Given the description of an element on the screen output the (x, y) to click on. 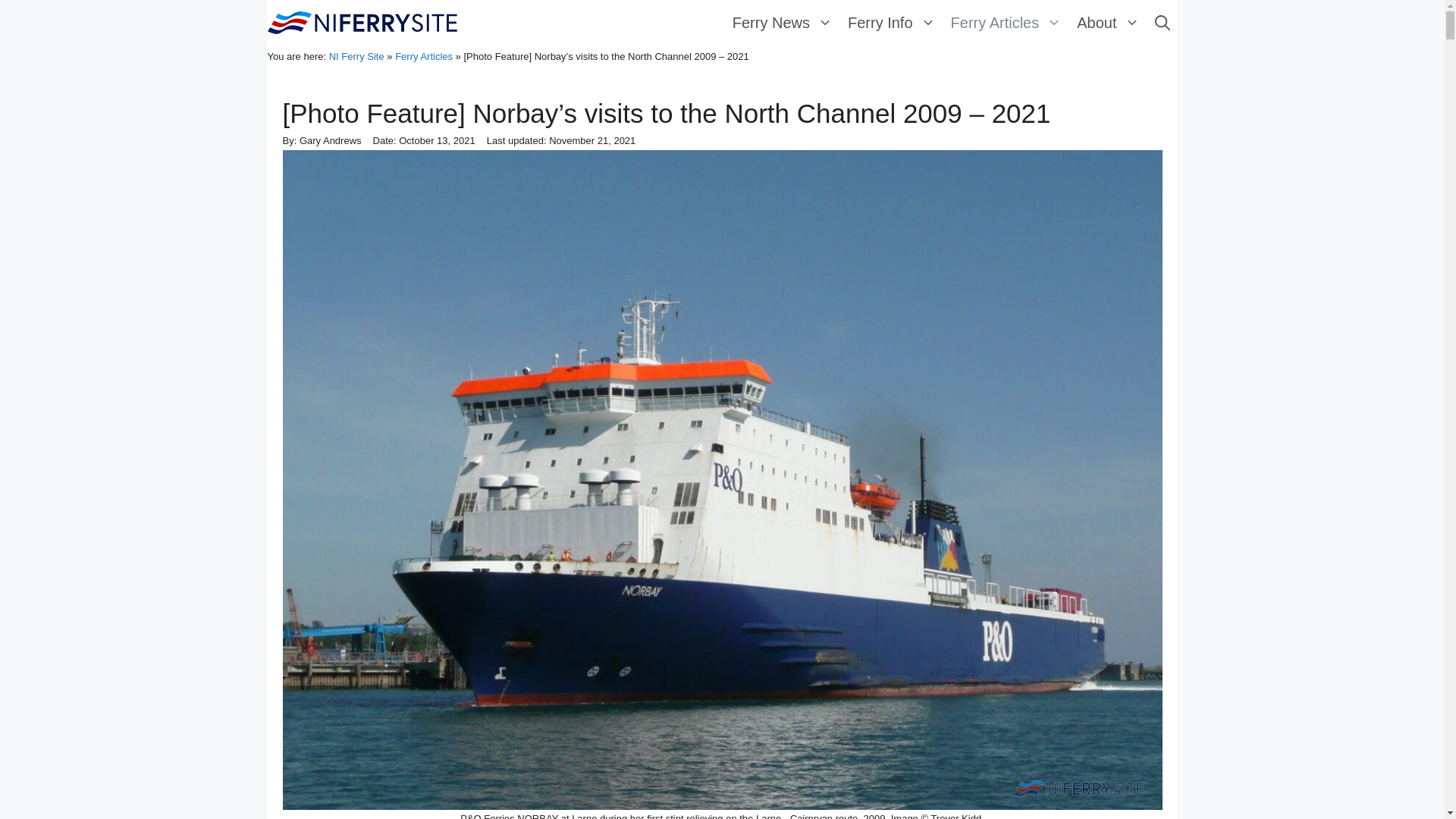
About (1107, 22)
Ferry Articles (1006, 22)
Ferry News (782, 22)
Ferry Info (891, 22)
